Given the description of an element on the screen output the (x, y) to click on. 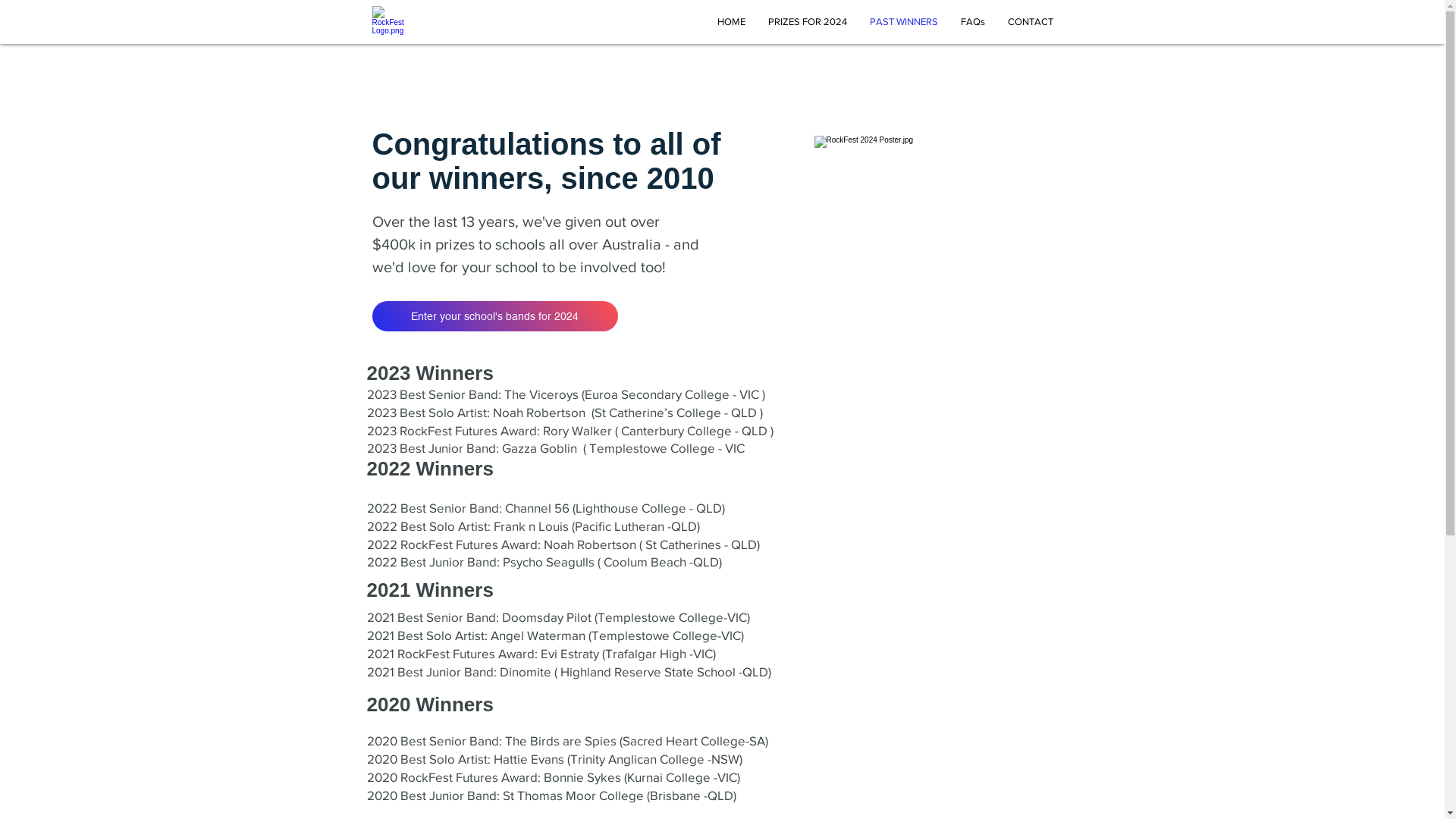
Enter your school's bands for 2024 Element type: text (494, 316)
FAQs Element type: text (972, 21)
PRIZES FOR 2024 Element type: text (807, 21)
PAST WINNERS Element type: text (903, 21)
CONTACT Element type: text (1030, 21)
HOME Element type: text (730, 21)
